Given the description of an element on the screen output the (x, y) to click on. 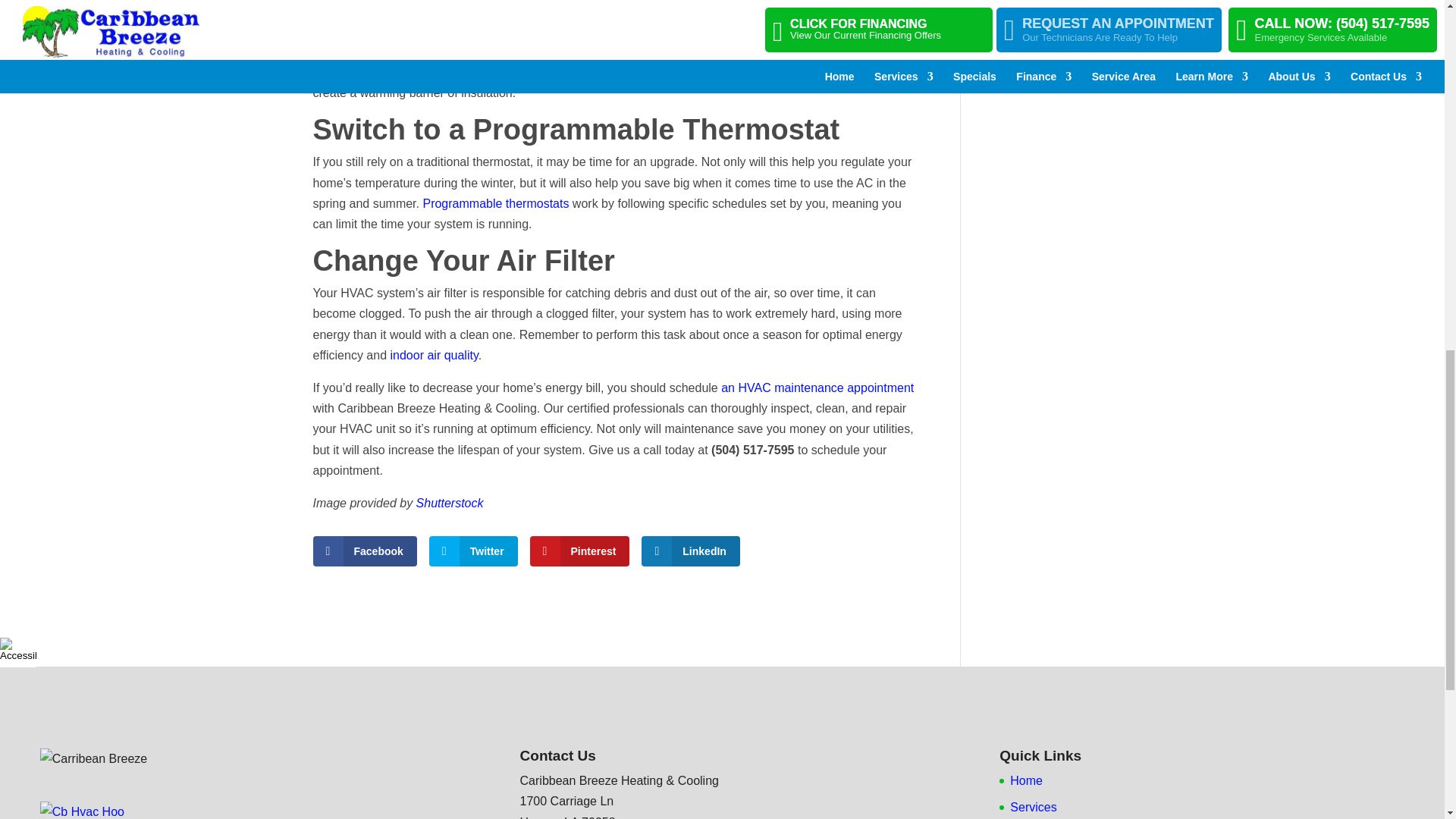
an HVAC maintenance appointment (817, 387)
Programmable thermostats (495, 203)
Facebook (364, 551)
Twitter (473, 551)
indoor air quality (433, 354)
Pinterest (578, 551)
Shutterstock (449, 502)
